Given the description of an element on the screen output the (x, y) to click on. 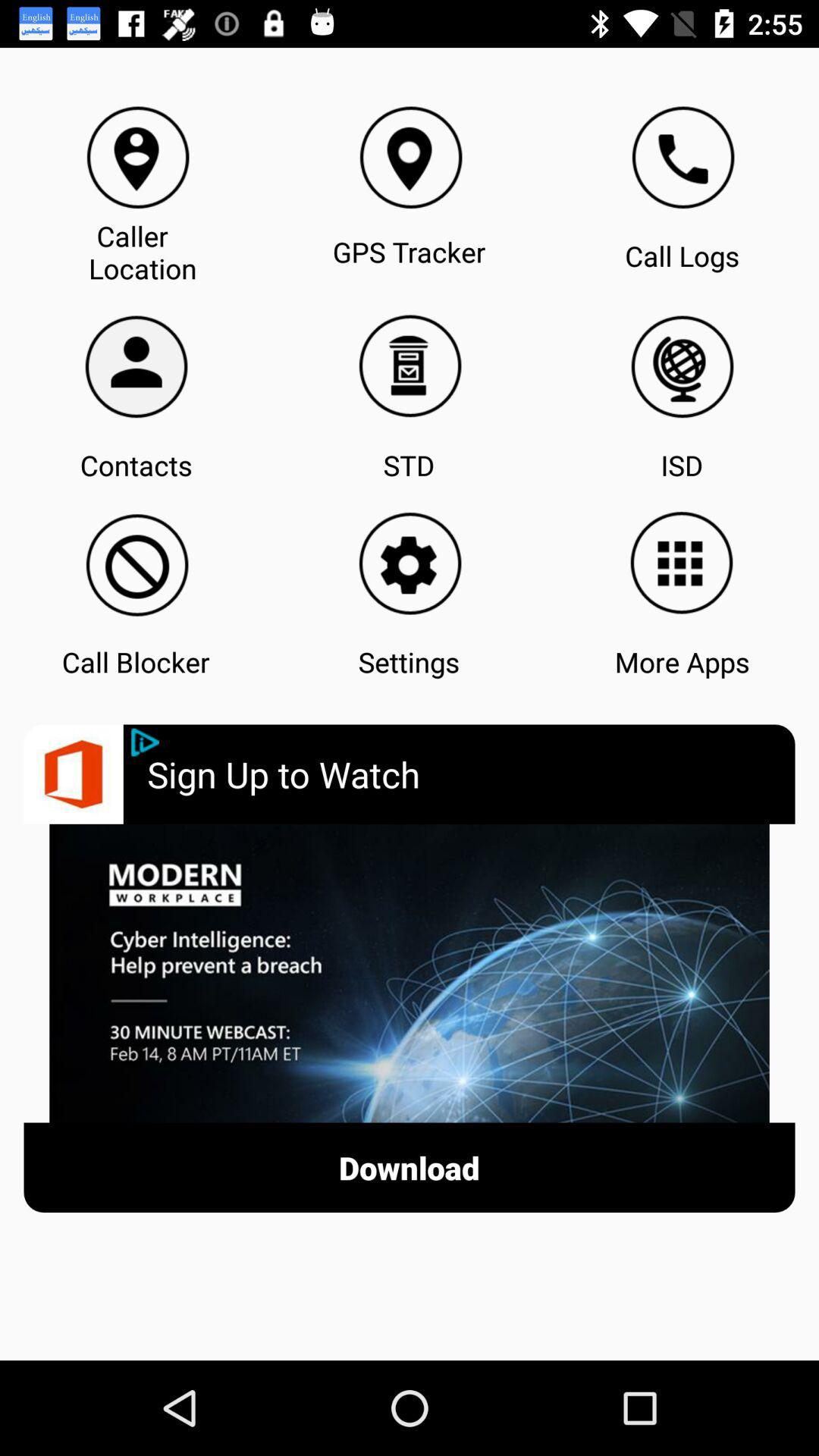
click on advertisement (409, 973)
